Given the description of an element on the screen output the (x, y) to click on. 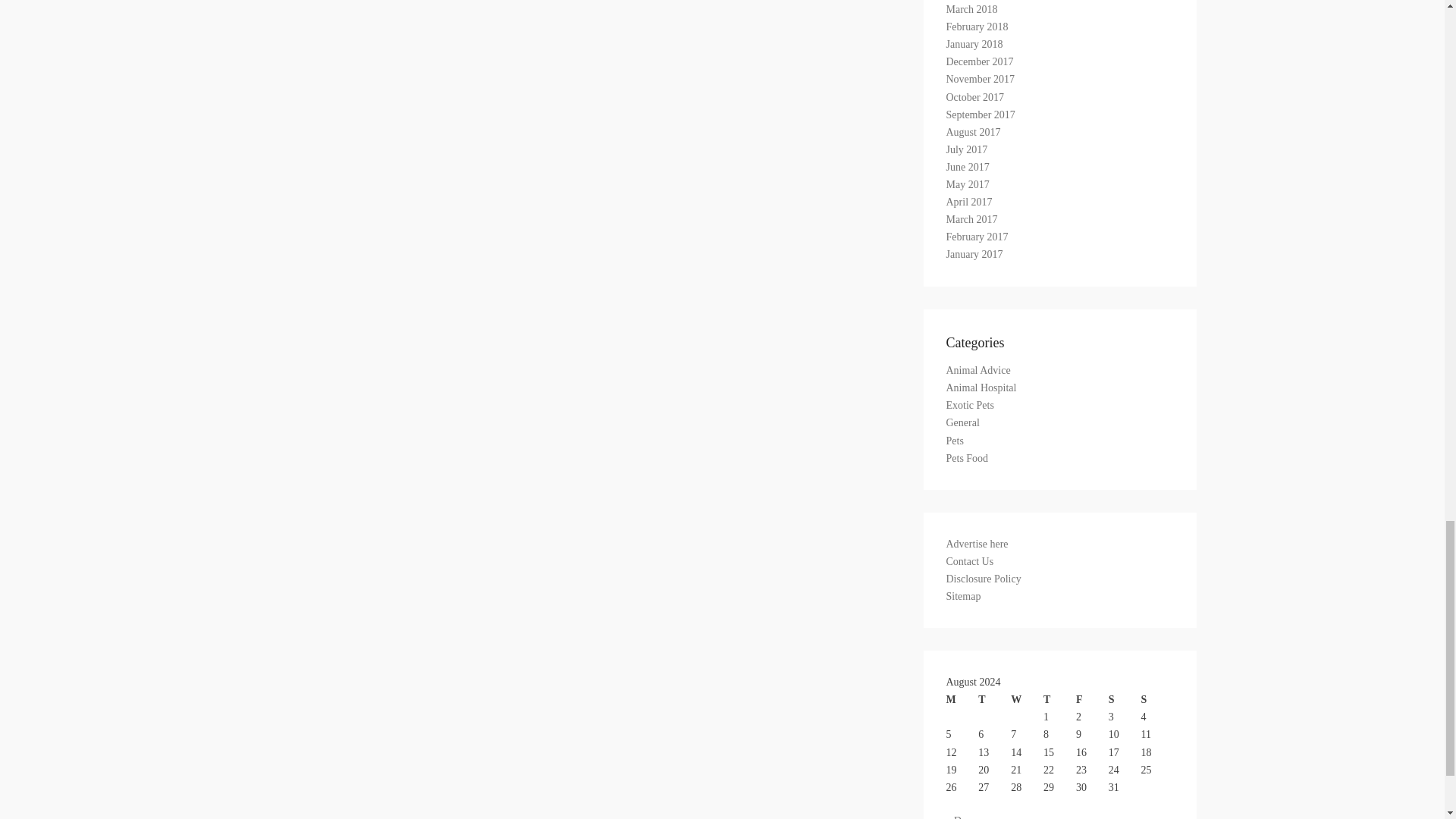
Saturday (1124, 699)
Friday (1091, 699)
Thursday (1059, 699)
Monday (962, 699)
Wednesday (1026, 699)
Tuesday (994, 699)
Sunday (1157, 699)
